Given the description of an element on the screen output the (x, y) to click on. 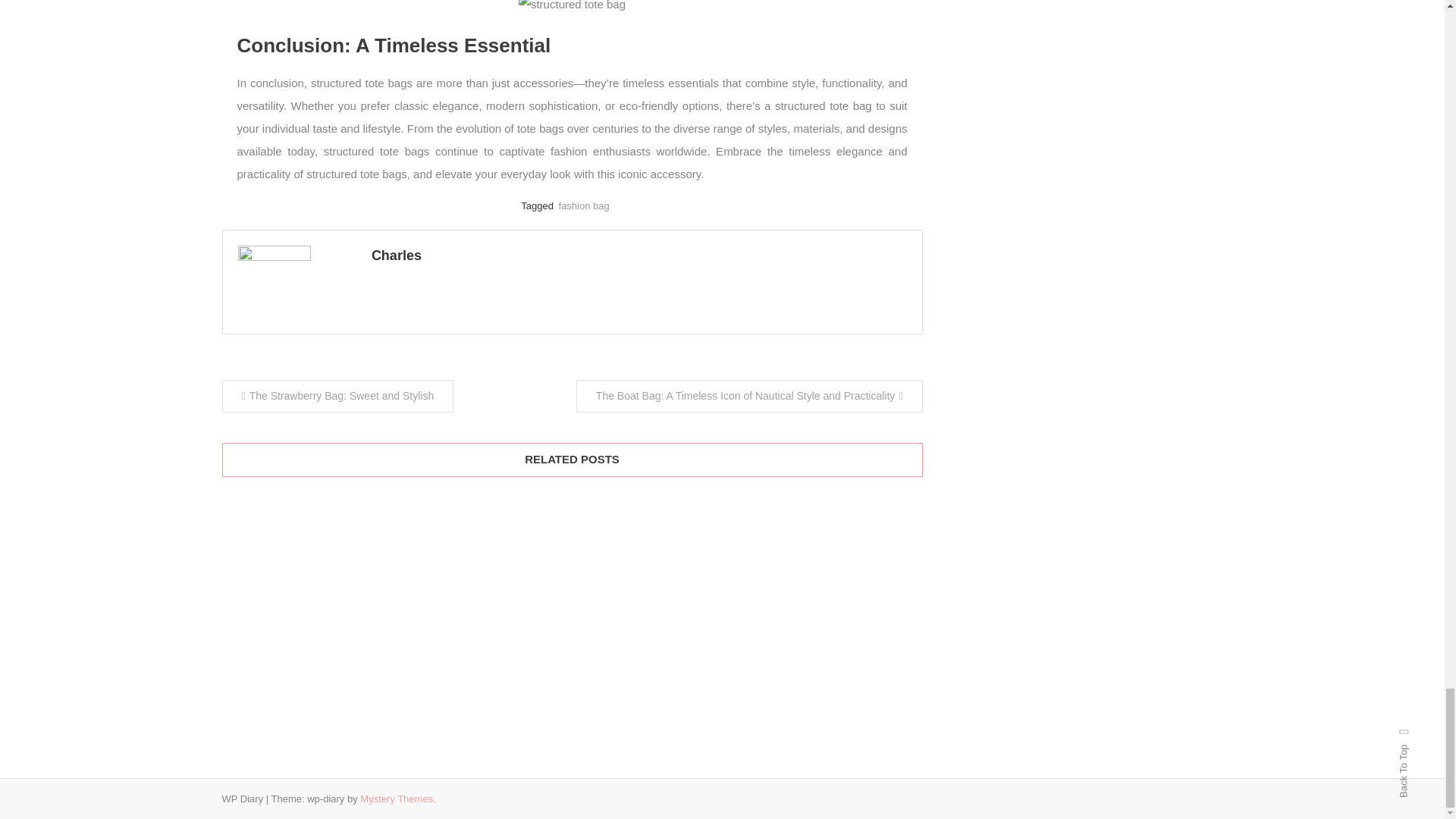
fashion bag (584, 205)
Charles (639, 255)
The Strawberry Bag: Sweet and Stylish (336, 396)
Posts by Charles (639, 255)
